Given the description of an element on the screen output the (x, y) to click on. 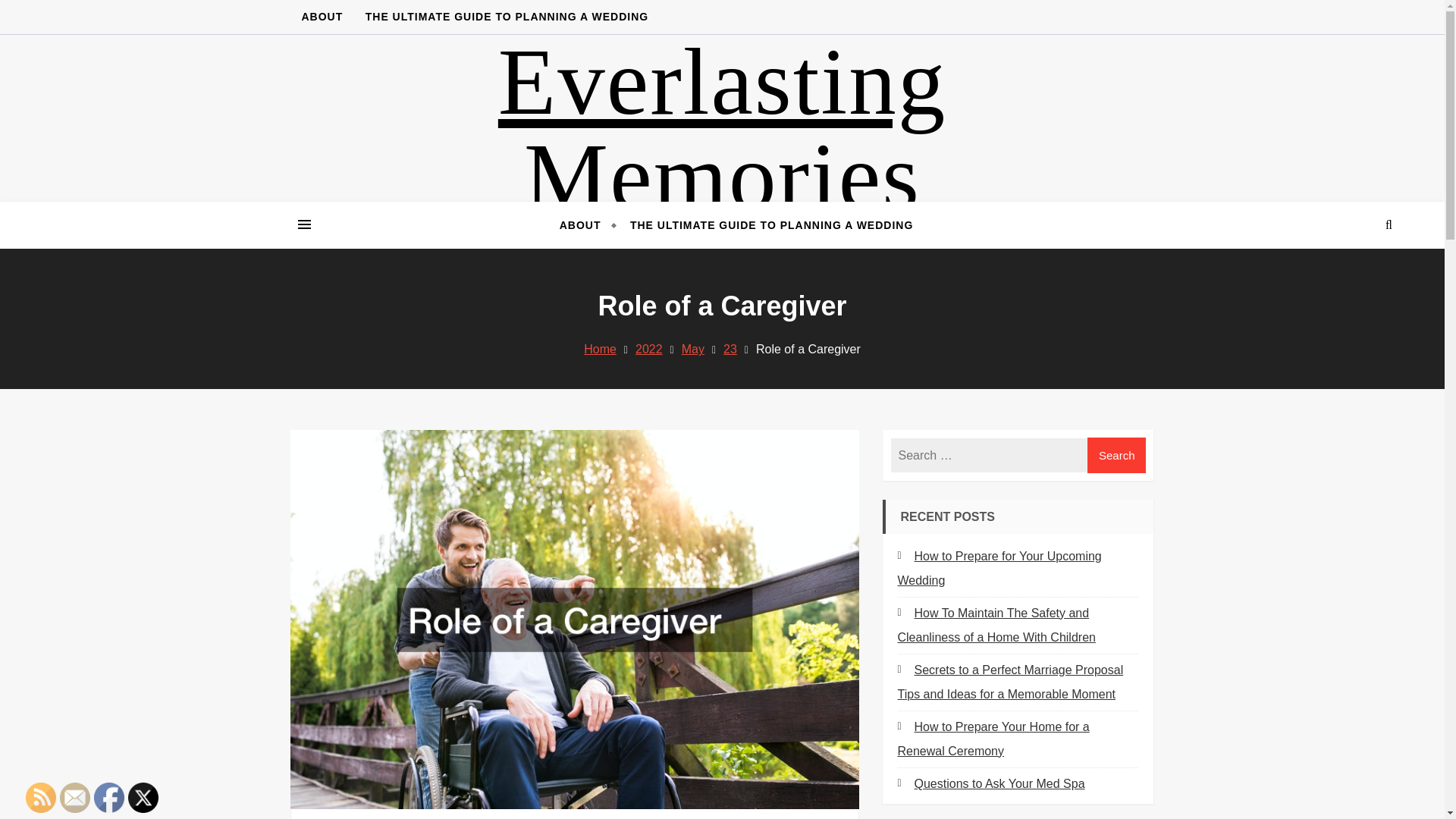
May (692, 349)
How to Prepare for Your Upcoming Wedding (1000, 568)
Home (599, 349)
Search (1117, 455)
Search (1117, 455)
RSS (41, 797)
How to Prepare Your Home for a Renewal Ceremony (993, 738)
Search (1346, 282)
ABOUT (322, 17)
Questions to Ask Your Med Spa (991, 783)
Twitter (143, 797)
Follow by Email (74, 797)
Search (1117, 455)
